Given the description of an element on the screen output the (x, y) to click on. 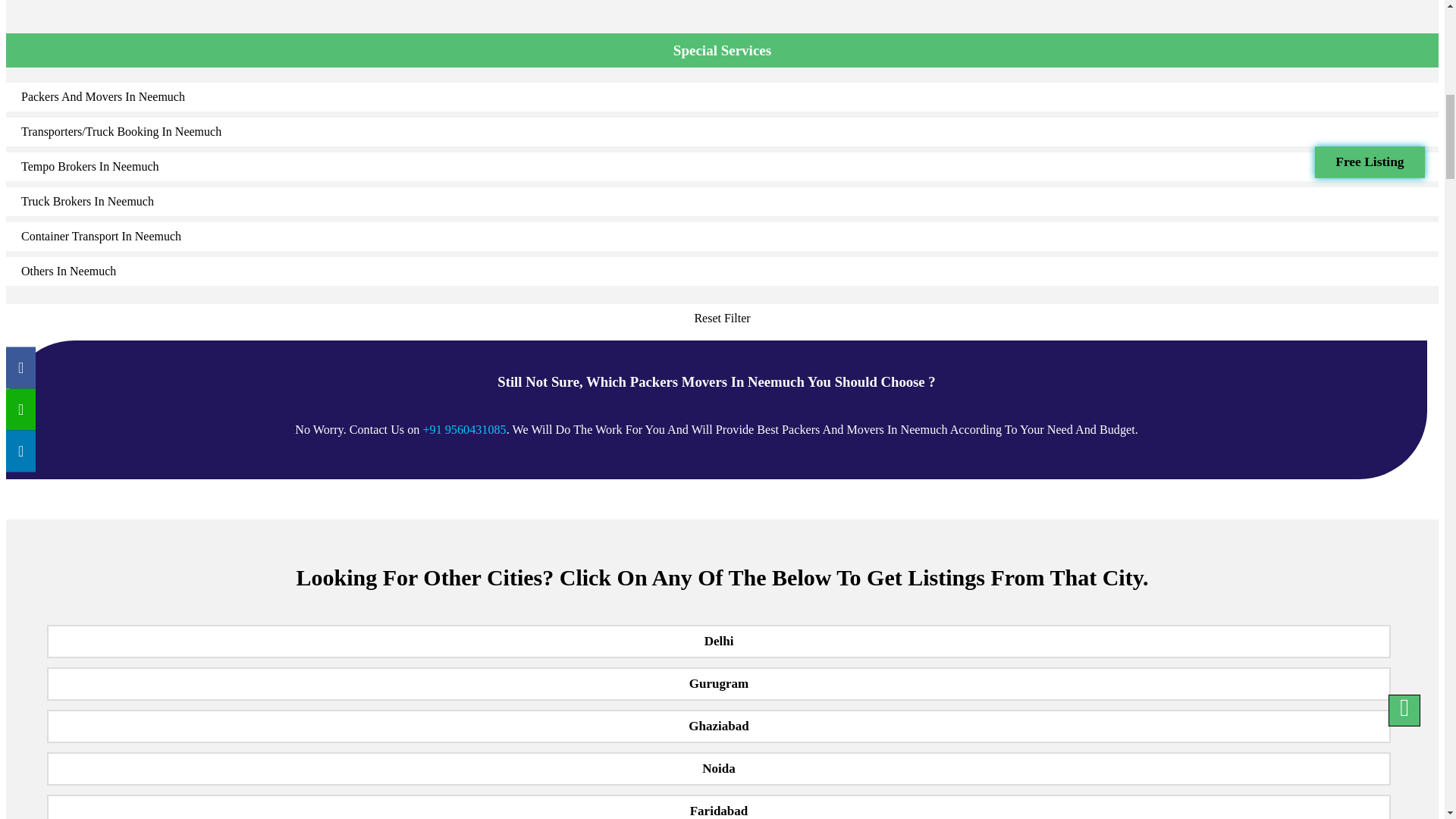
Faridabad (718, 806)
Ghaziabad (718, 726)
Delhi (718, 641)
Noida (718, 768)
Gurugram (718, 684)
